Given the description of an element on the screen output the (x, y) to click on. 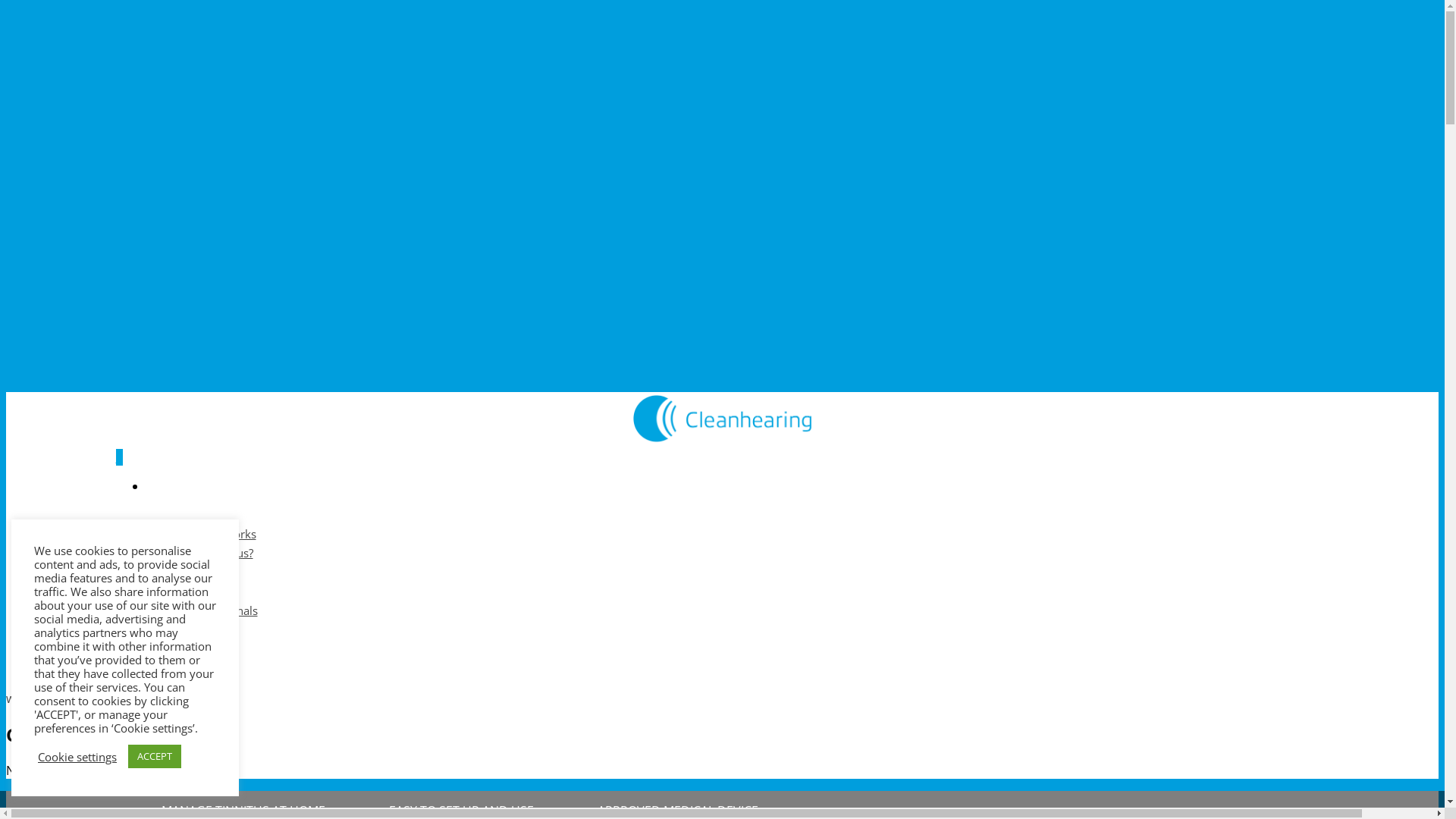
About us Element type: text (189, 572)
For Professionals Element type: text (211, 610)
RENT SONO Element type: text (194, 648)
0 Element type: text (721, 456)
BUY SONO Element type: text (193, 667)
How Sono works Element type: text (211, 533)
What is tinnitus? Element type: text (209, 552)
FAQs Element type: text (180, 591)
Contact us Element type: text (194, 629)
